Given the description of an element on the screen output the (x, y) to click on. 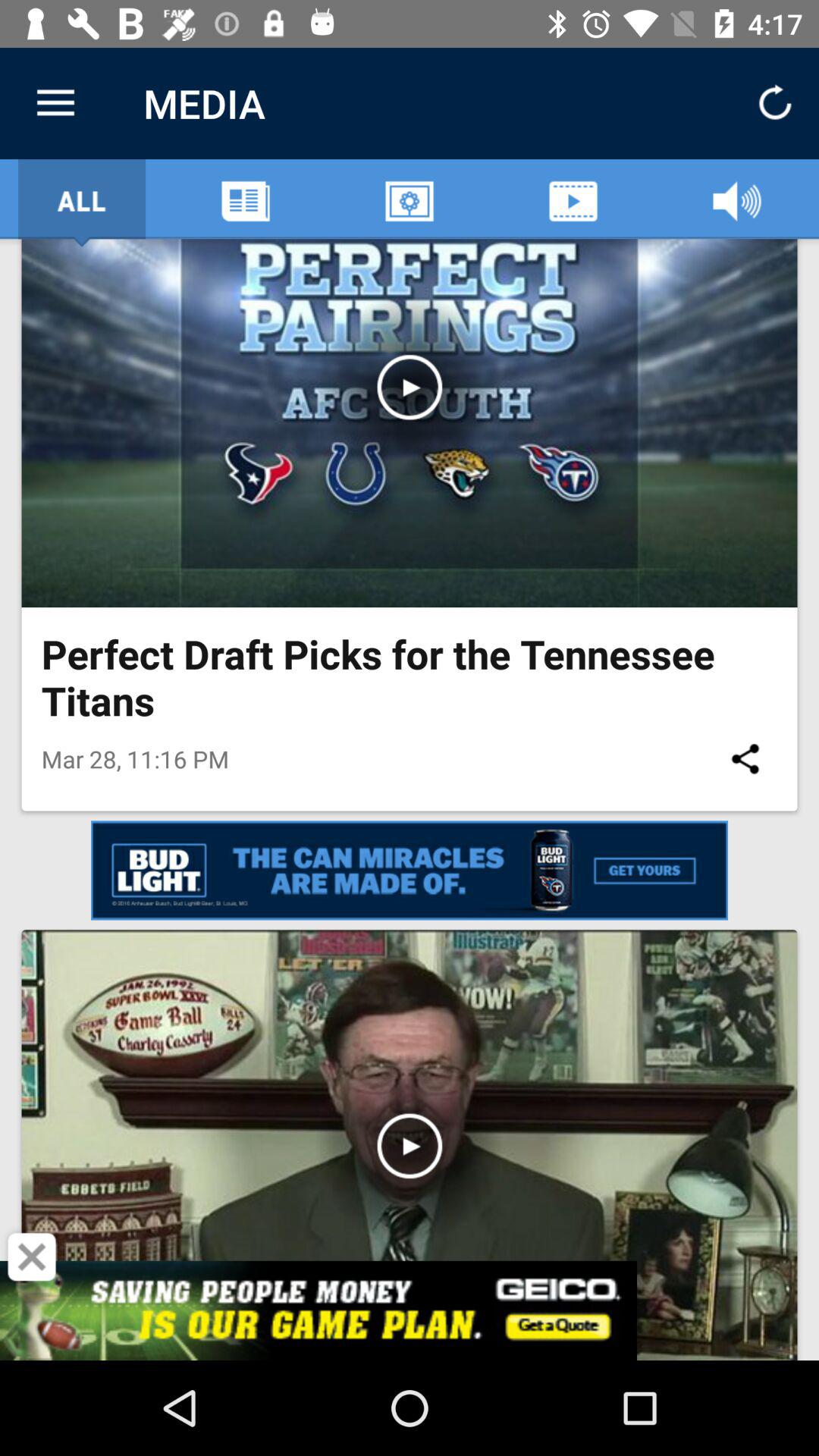
open the item to the left of the media icon (55, 103)
